Given the description of an element on the screen output the (x, y) to click on. 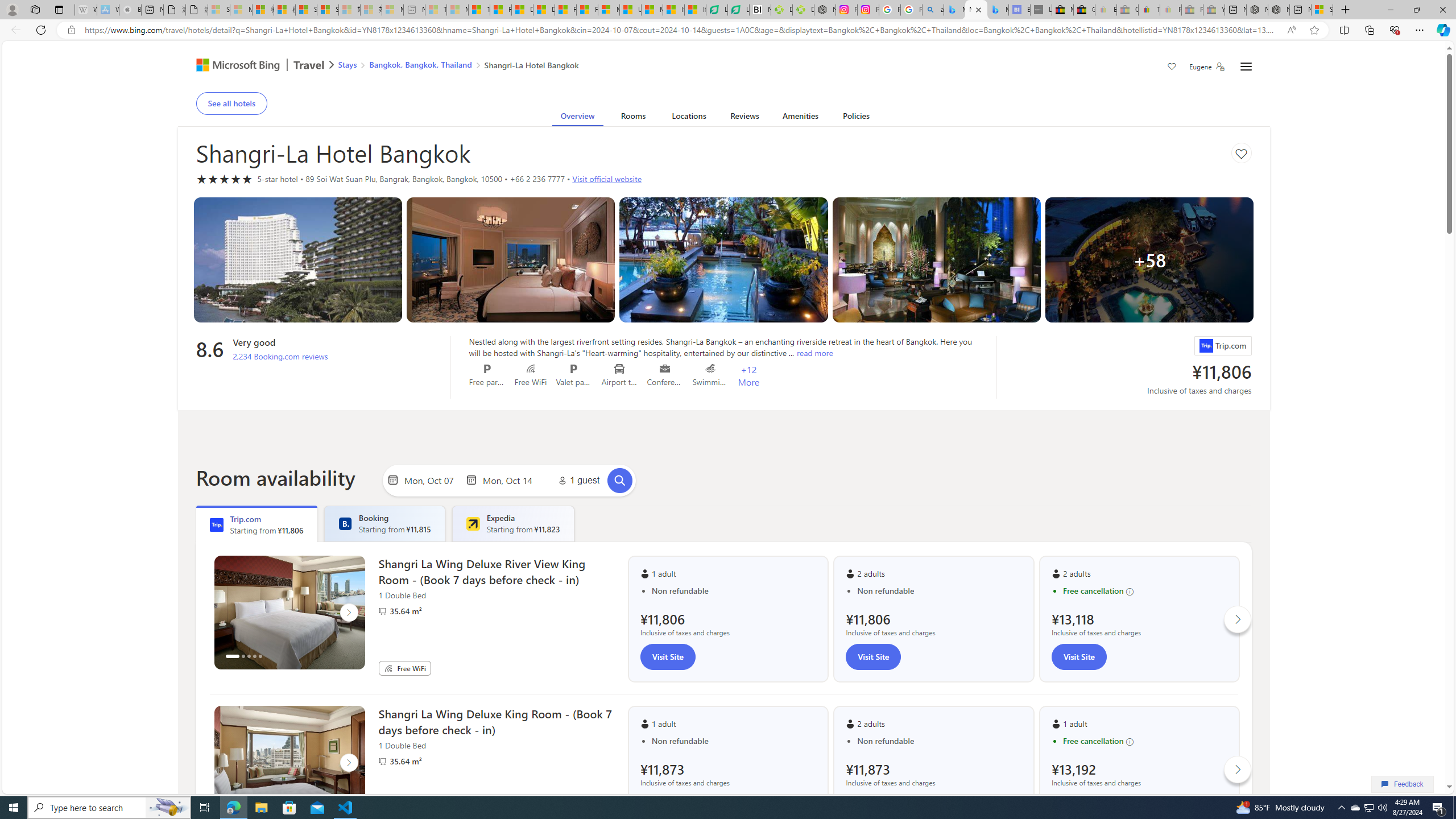
2,234 Booking.com reviews (279, 355)
Visit official website (607, 178)
Reviews (744, 118)
Microsoft Bing Travel - Flights from Hong Kong to Bangkok (954, 9)
Foo BAR | Trusted Community Engagement and Contributions (587, 9)
1 guest (577, 480)
Booking (344, 523)
Swimming pool (710, 368)
Travel (308, 65)
LendingTree - Compare Lenders (738, 9)
